Given the description of an element on the screen output the (x, y) to click on. 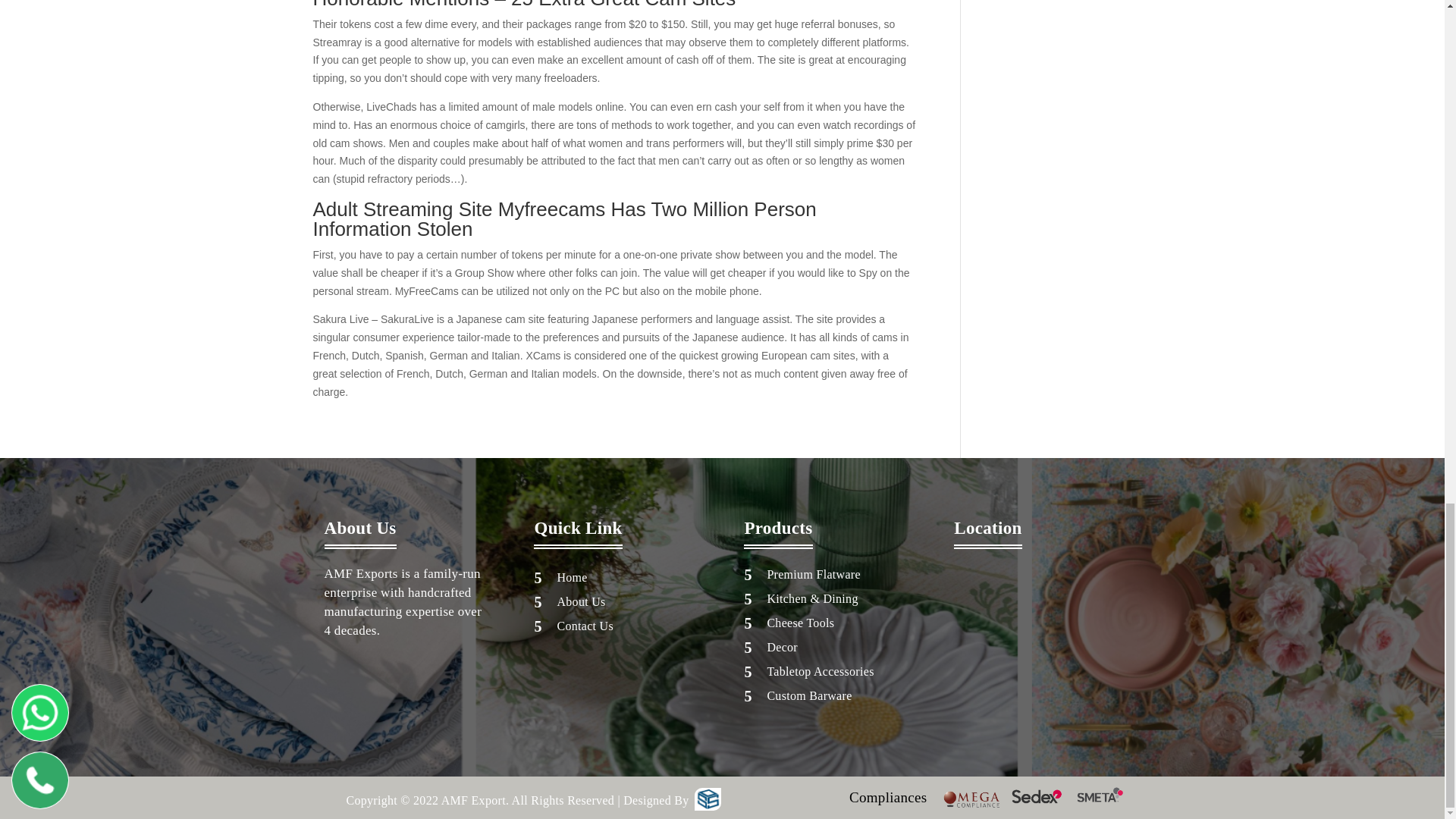
Contact Us (584, 625)
About Us (580, 601)
Home (571, 576)
Premium Flatware (813, 574)
Cheese Tools (800, 622)
